Given the description of an element on the screen output the (x, y) to click on. 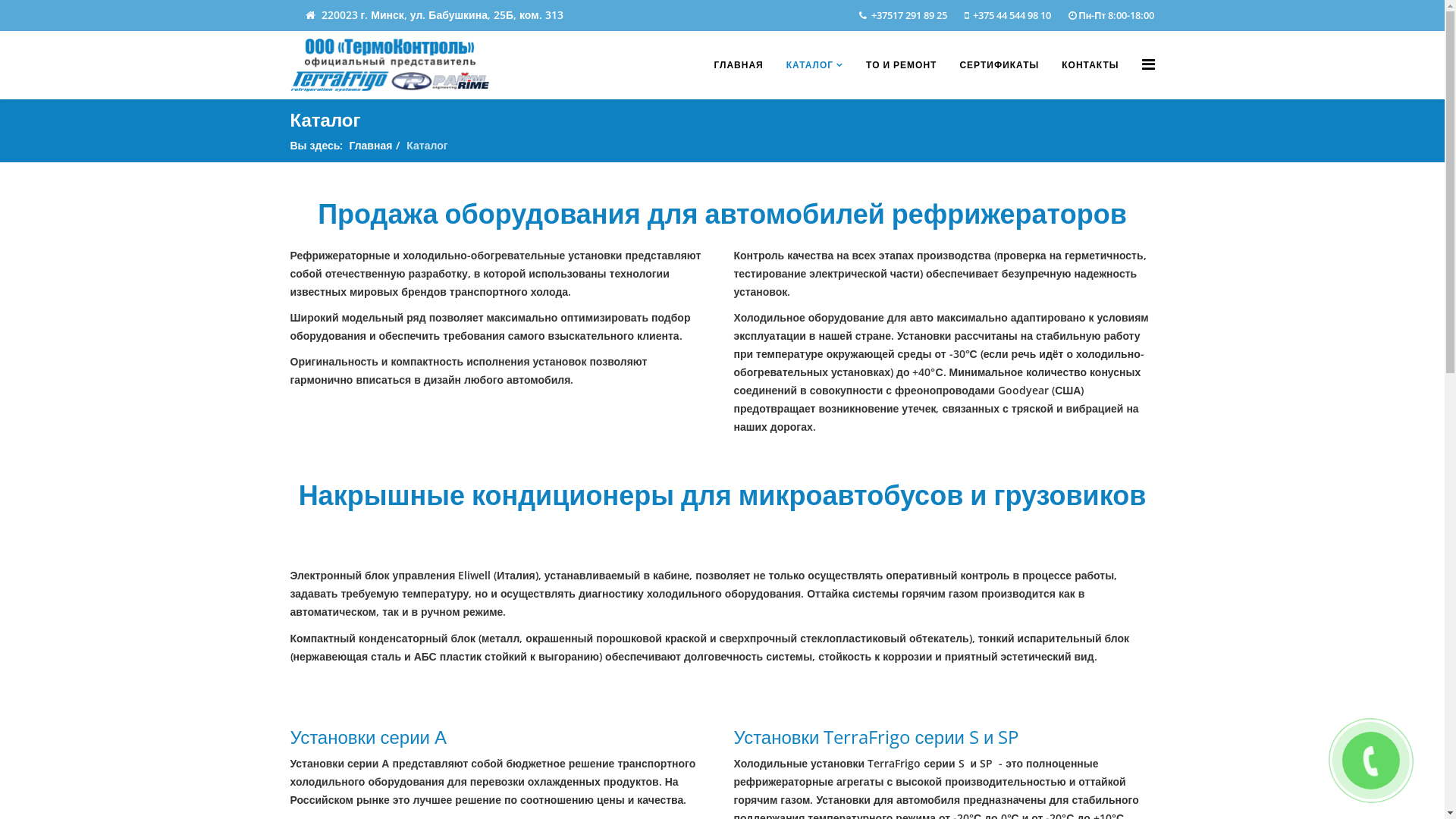
+375 44 544 98 10 Element type: text (1011, 15)
+37517 291 89 25 Element type: text (909, 15)
